Given the description of an element on the screen output the (x, y) to click on. 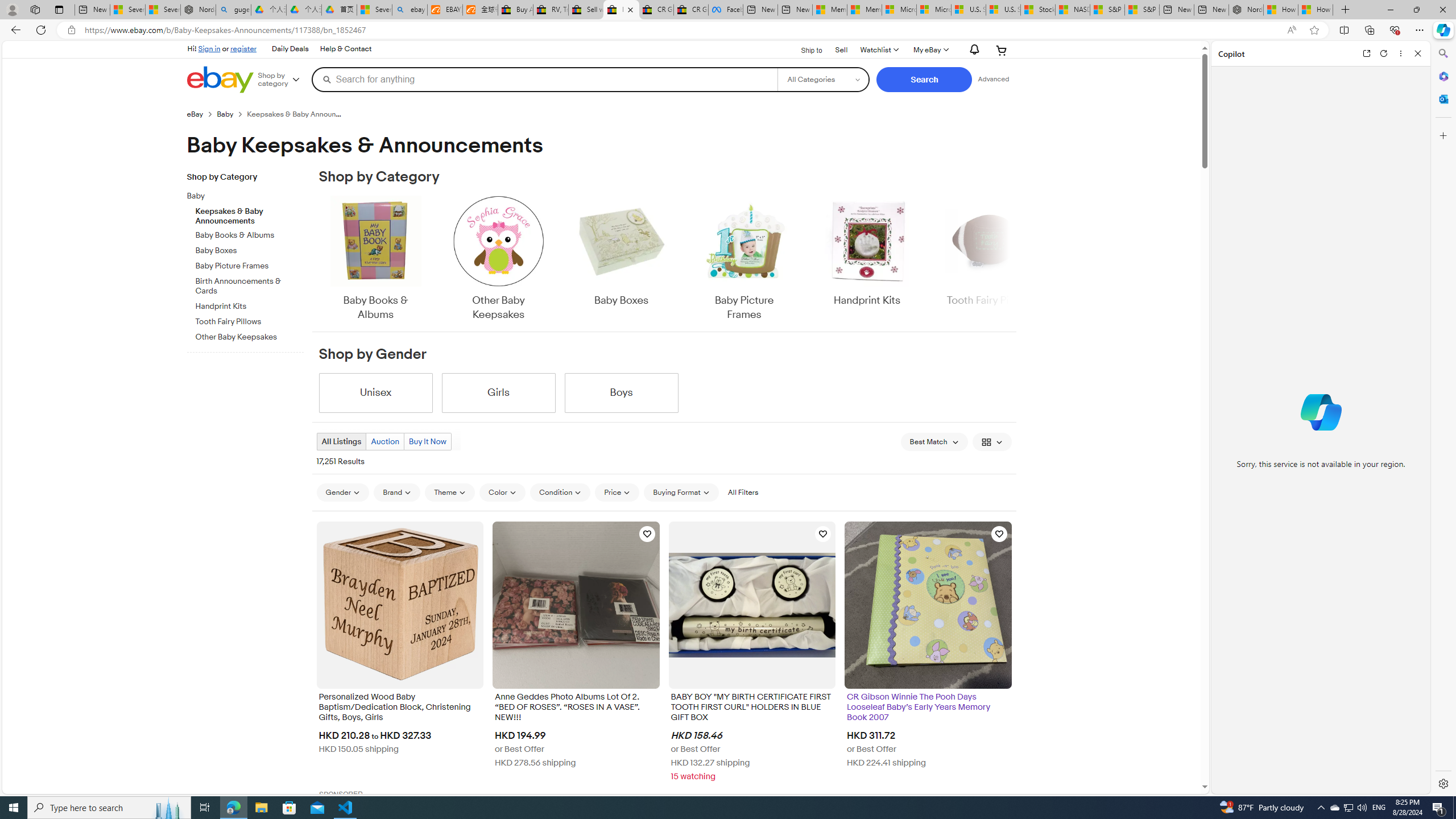
Buy It Now (427, 441)
All Filters (742, 492)
Girls (498, 392)
eBay Home (219, 79)
Brand (397, 492)
Ship to (804, 50)
Help & Contact (345, 49)
